Given the description of an element on the screen output the (x, y) to click on. 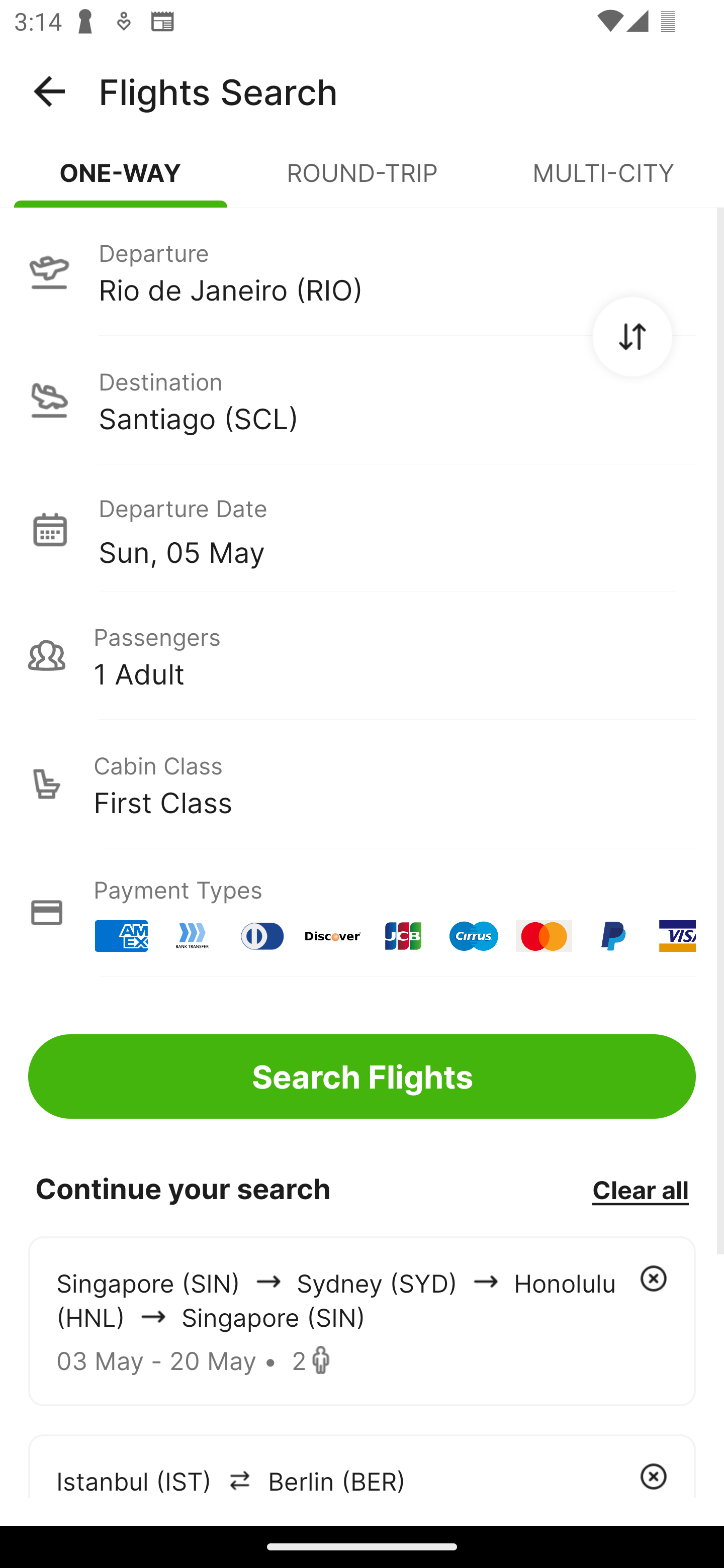
ONE-WAY (120, 180)
ROUND-TRIP (361, 180)
MULTI-CITY (603, 180)
Departure Rio de Janeiro (RIO) (362, 270)
Destination Santiago (SCL) (362, 400)
Departure Date Sun, 05 May (396, 528)
Passengers 1 Adult (362, 655)
Cabin Class First Class (362, 783)
Payment Types (362, 912)
Search Flights (361, 1075)
Clear all (640, 1189)
Istanbul (IST)  arrowIcon  Berlin (BER) (361, 1465)
